Given the description of an element on the screen output the (x, y) to click on. 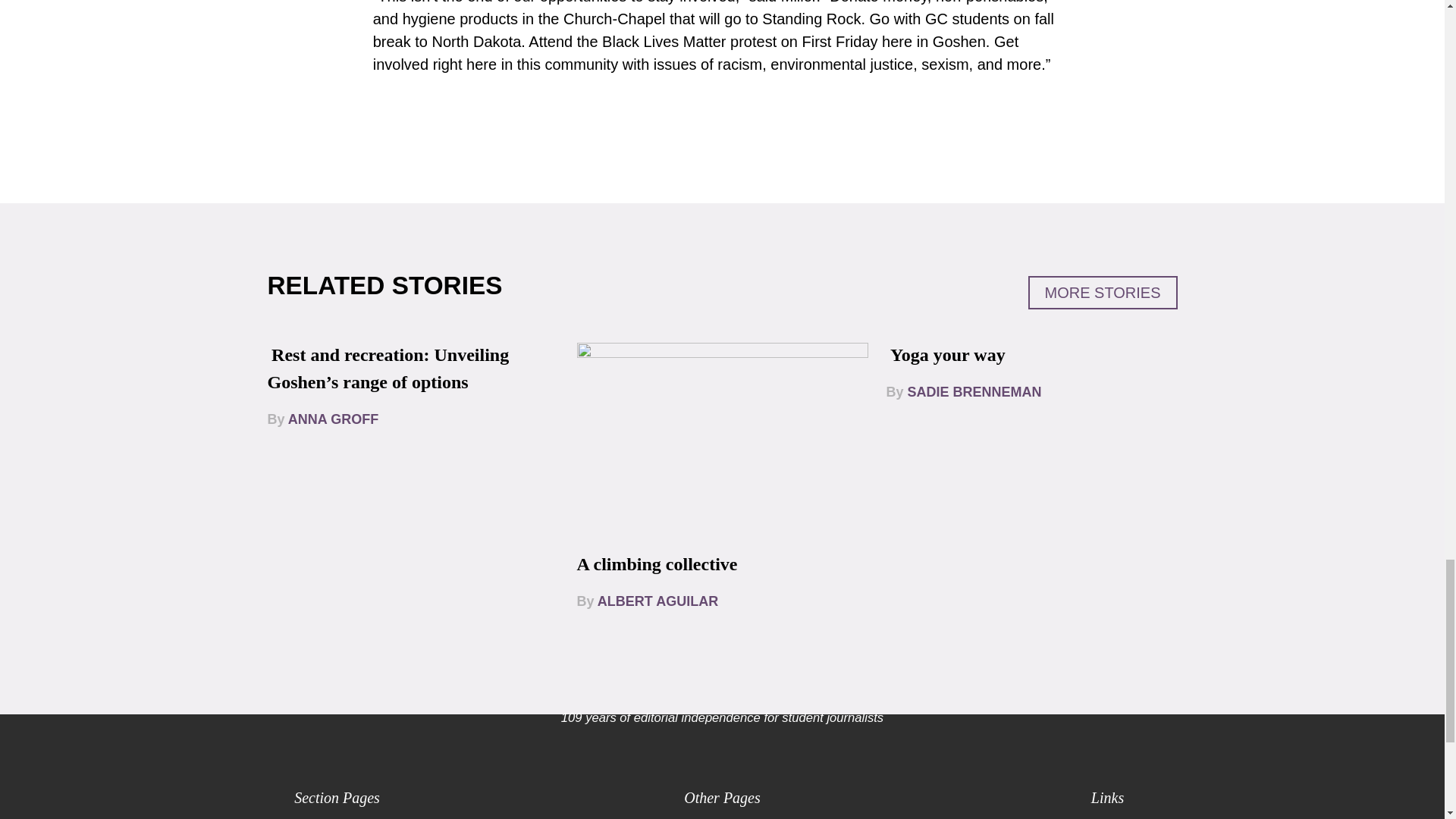
SADIE BRENNEMAN (974, 391)
ALBERT AGUILAR (656, 601)
ANNA GROFF (333, 418)
MORE STORIES (1102, 292)
A climbing collective (656, 564)
Yoga your way (947, 354)
